Given the description of an element on the screen output the (x, y) to click on. 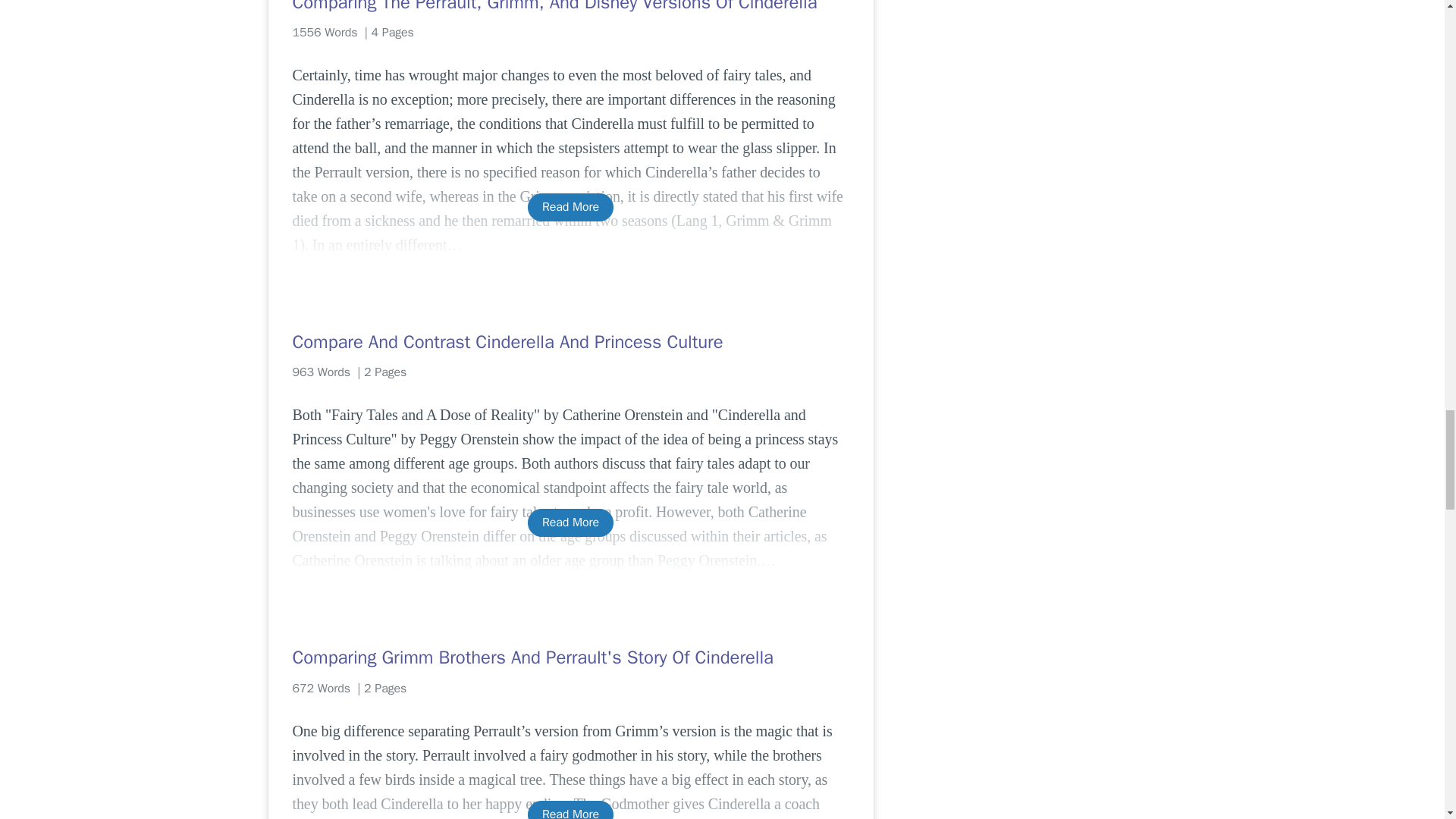
Read More (569, 809)
Read More (569, 522)
Read More (569, 207)
Compare And Contrast Cinderella And Princess Culture (570, 341)
Comparing Grimm Brothers And Perrault's Story Of Cinderella (570, 657)
